Given the description of an element on the screen output the (x, y) to click on. 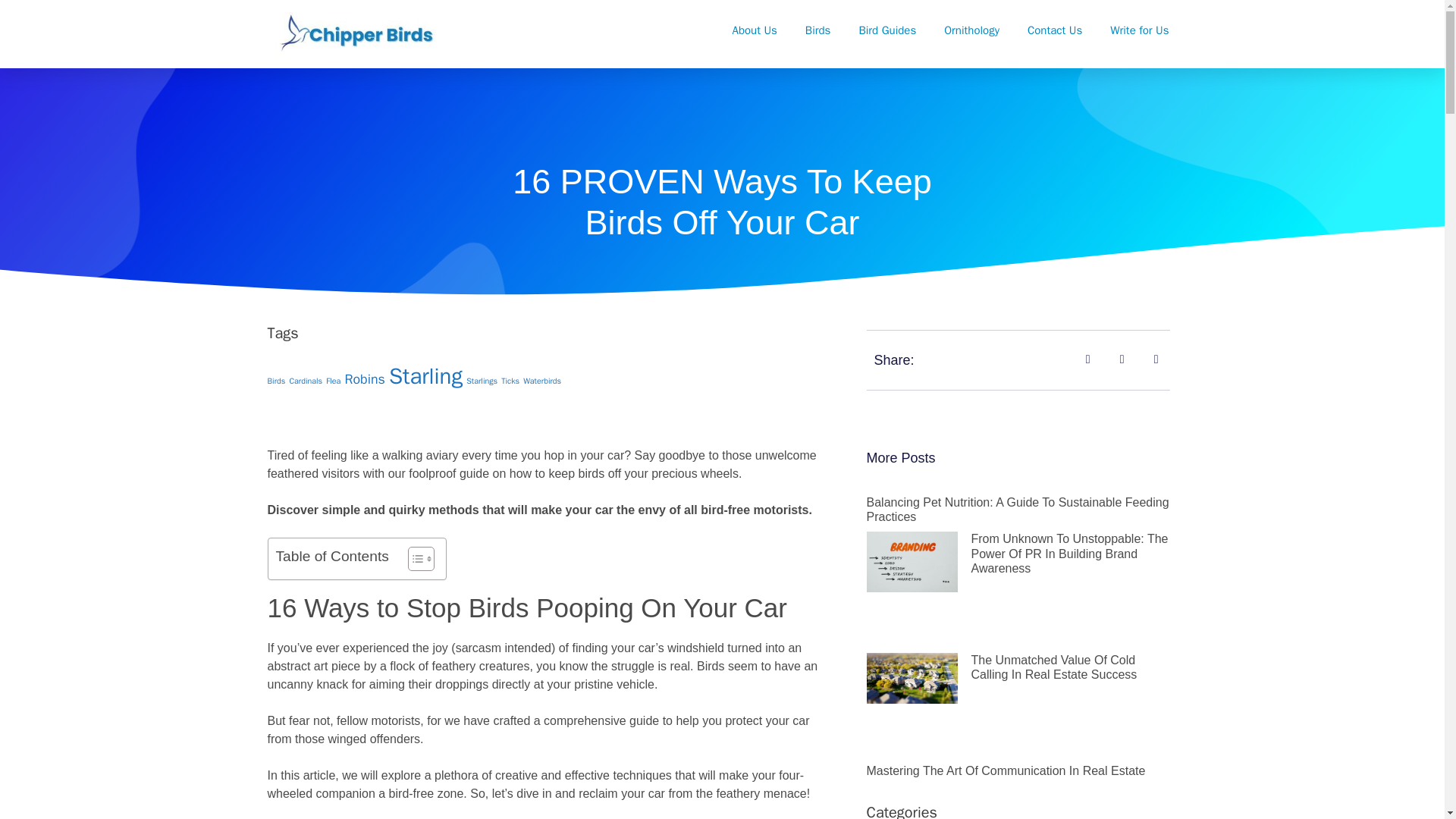
Write for Us (1139, 29)
Birds (818, 29)
About Us (754, 29)
Ticks (509, 380)
Ornithology (971, 29)
Flea (333, 380)
Birds (275, 380)
Contact Us (1054, 29)
Starlings (481, 380)
Starling (425, 376)
Waterbirds (541, 380)
Bird Guides (887, 29)
Robins (363, 379)
Cardinals (304, 380)
